Given the description of an element on the screen output the (x, y) to click on. 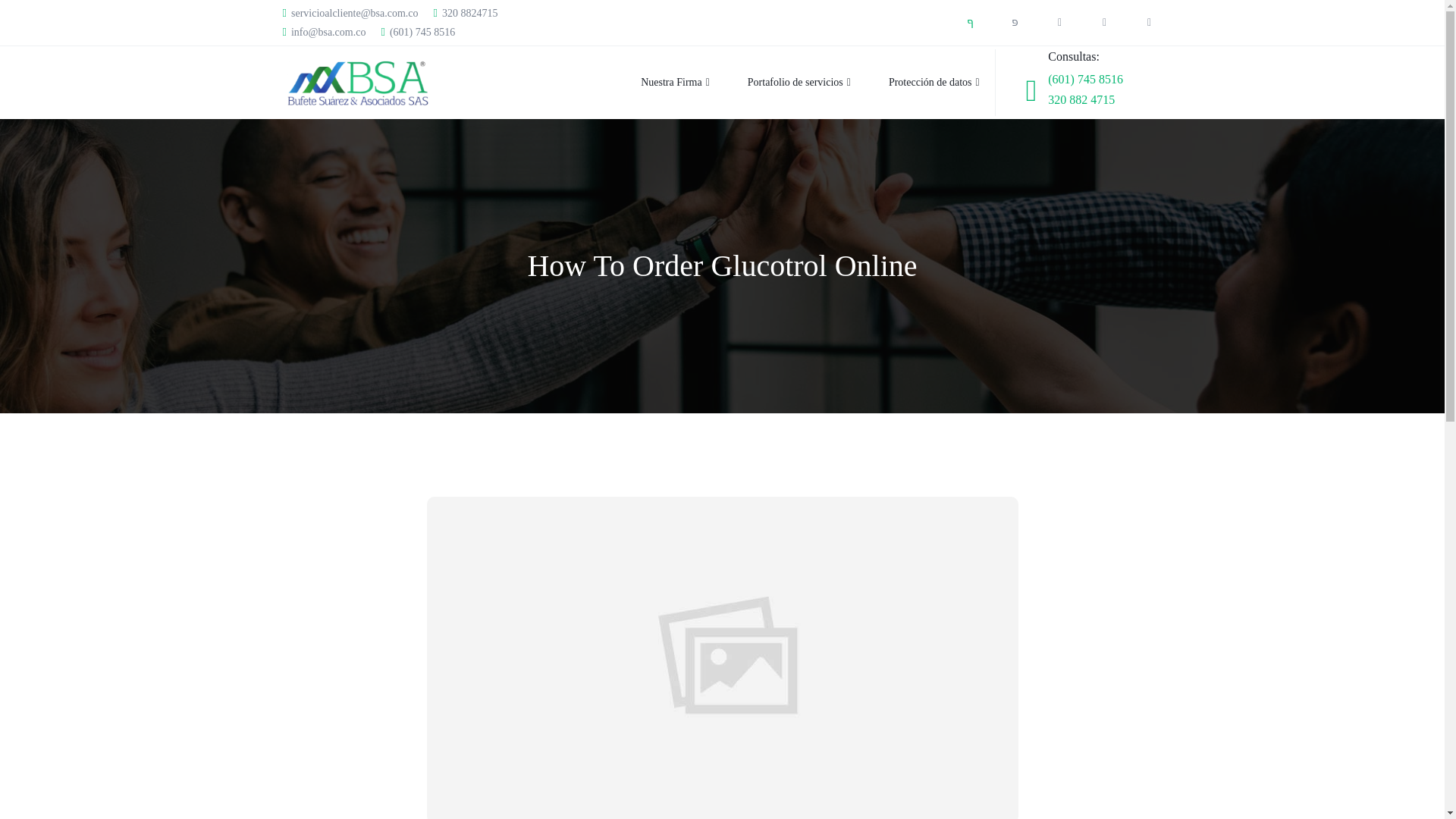
320 882 4715 (1081, 99)
Nuestra Firma (656, 81)
Portafolio de servicios (780, 81)
320 8824715 (465, 13)
